Given the description of an element on the screen output the (x, y) to click on. 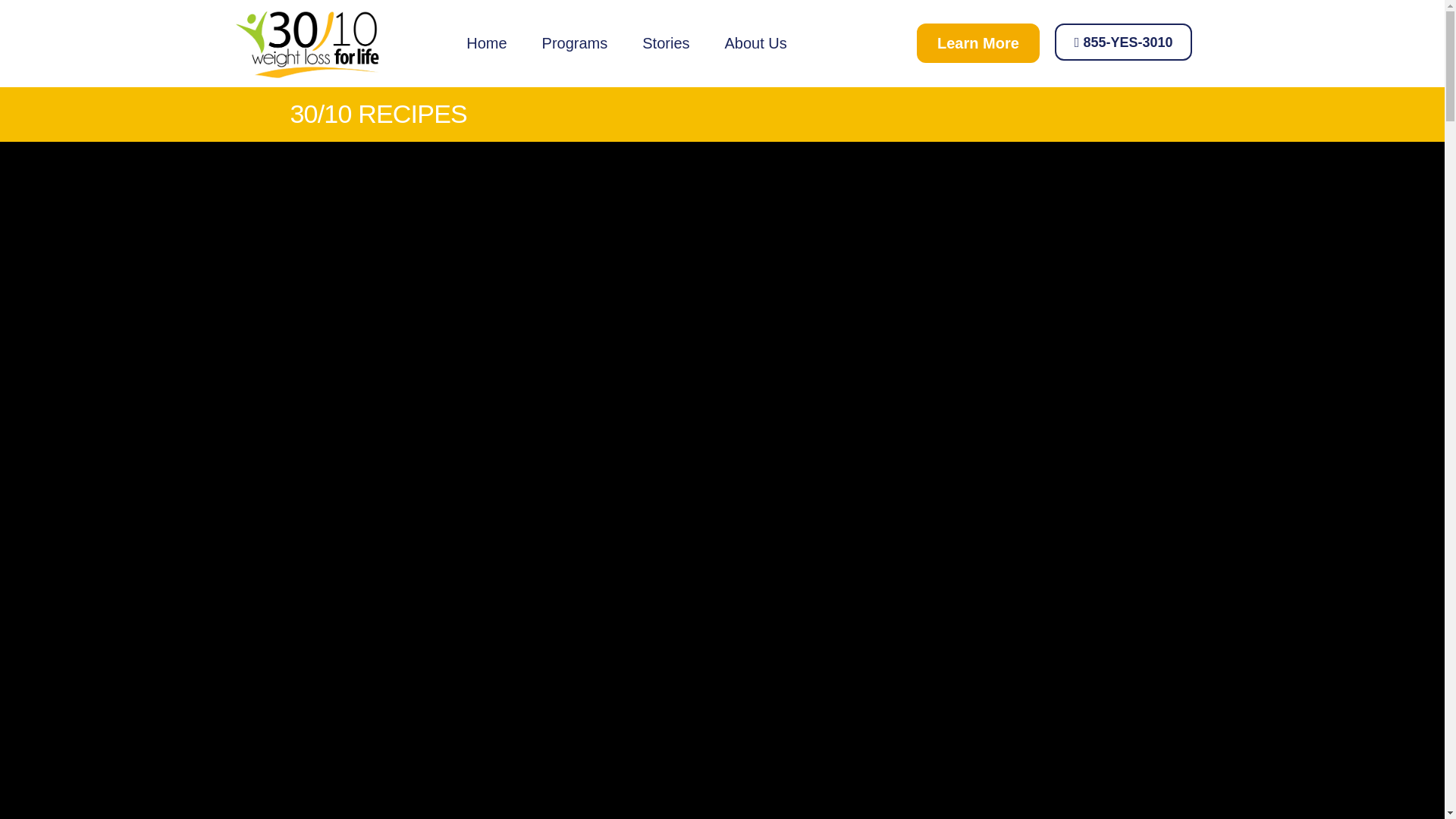
Stories (665, 42)
Home (486, 42)
About Us (755, 42)
855-YES-3010 (1123, 41)
Learn More (978, 43)
Programs (575, 42)
